Given the description of an element on the screen output the (x, y) to click on. 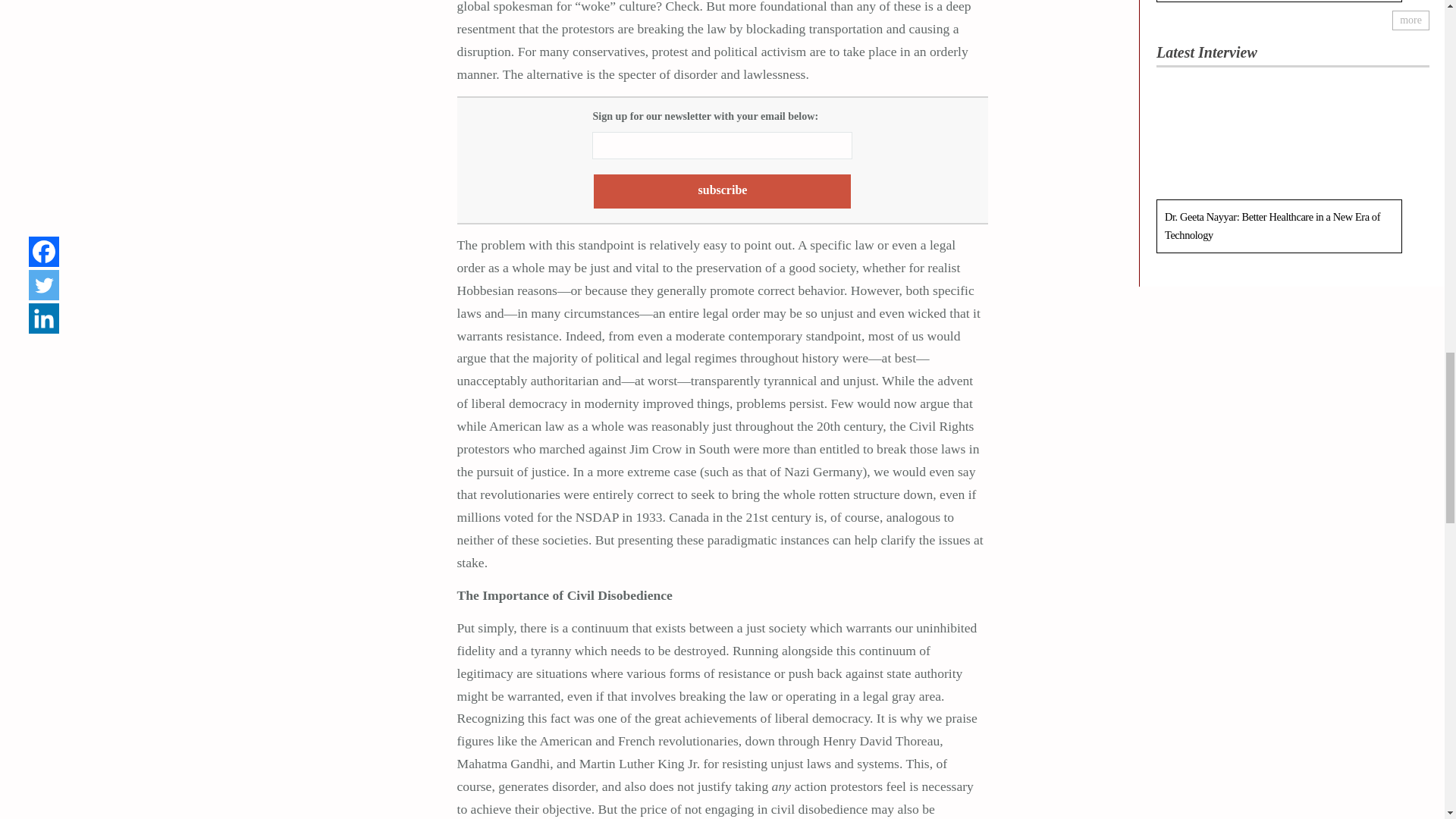
Subscribe (722, 191)
Subscribe (722, 191)
